Given the description of an element on the screen output the (x, y) to click on. 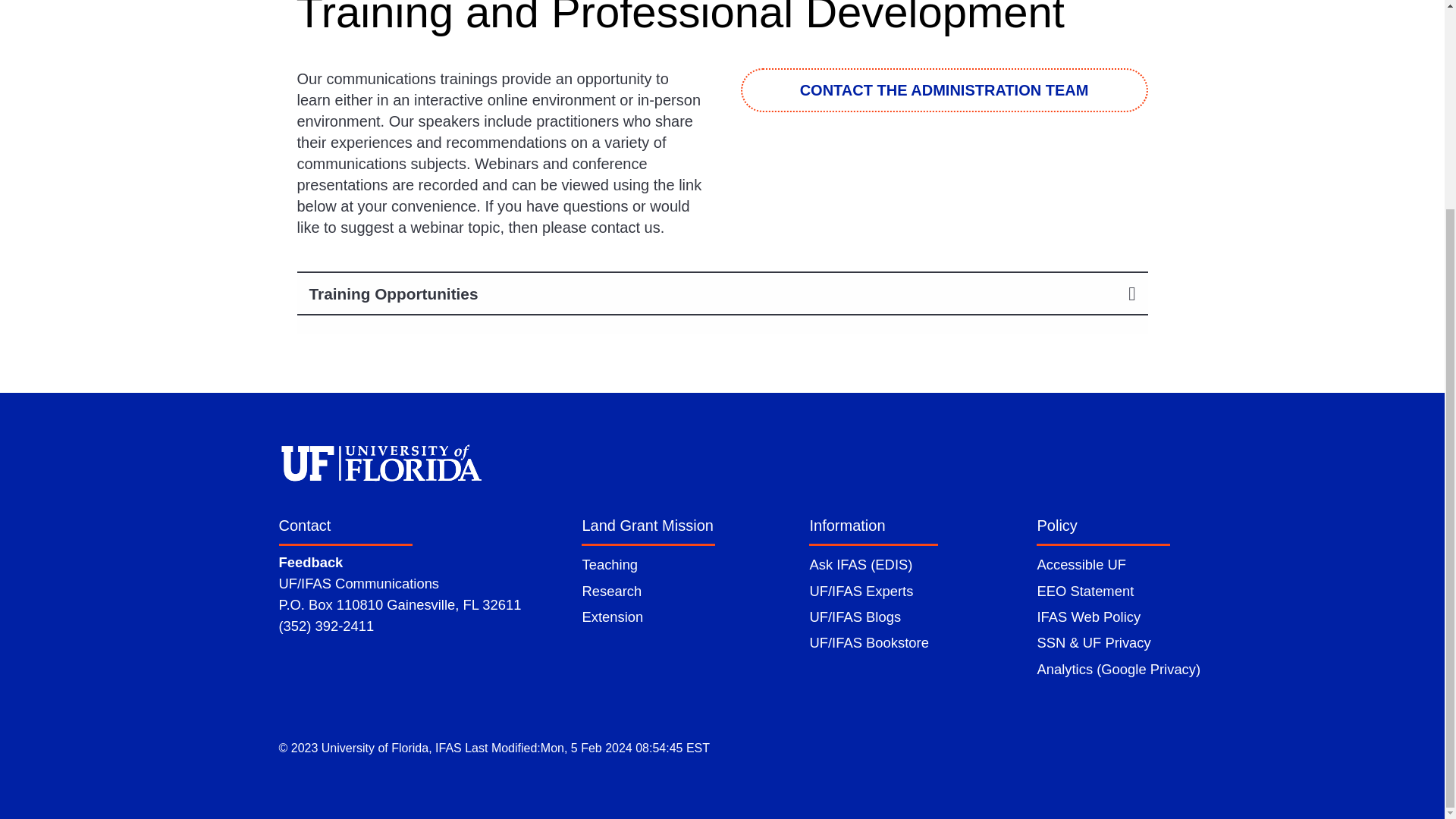
CONTACT THE ADMINISTRATION TEAM (943, 89)
